Given the description of an element on the screen output the (x, y) to click on. 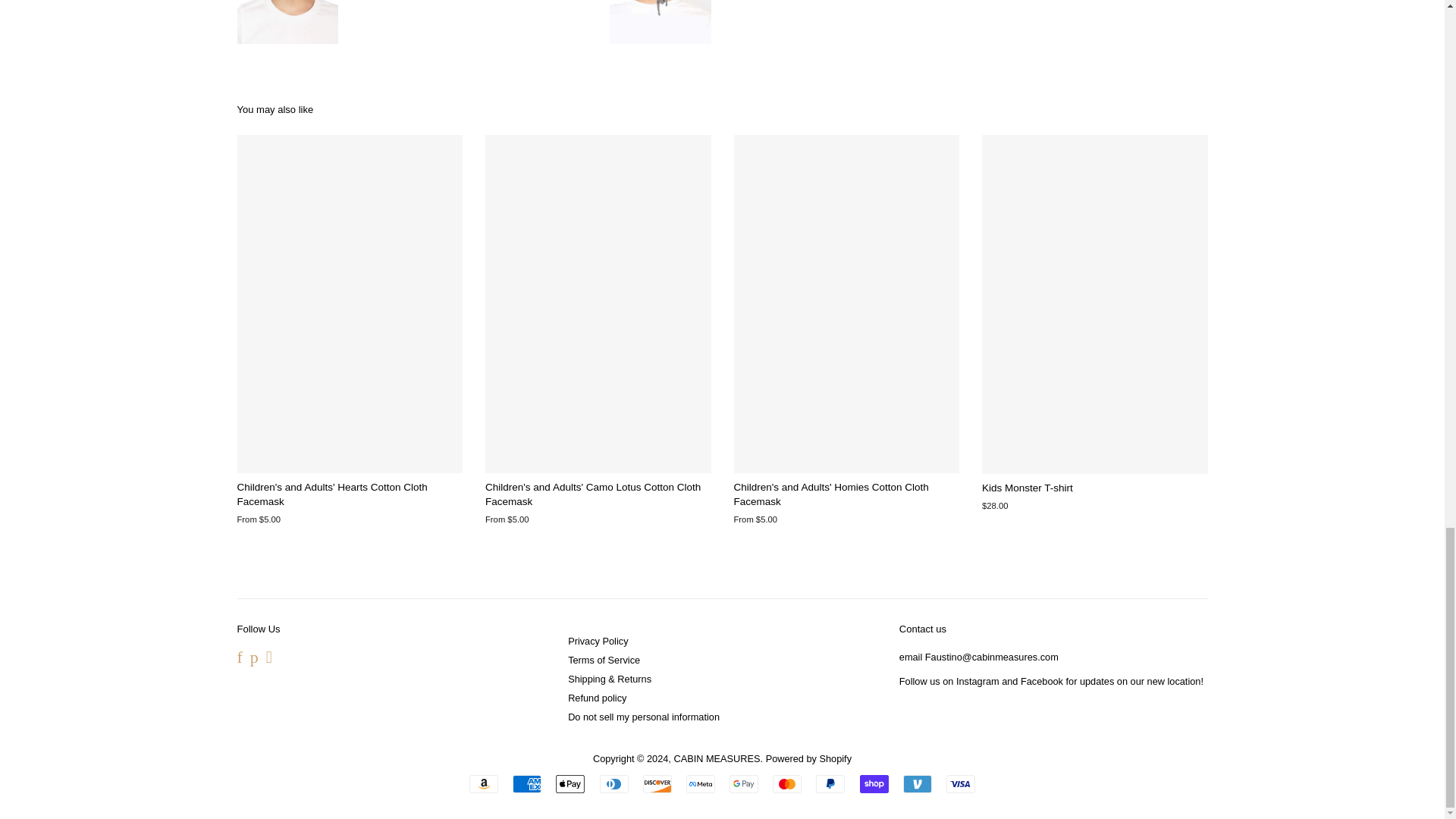
Discover (657, 783)
Visa (960, 783)
Google Pay (743, 783)
Meta Pay (699, 783)
Apple Pay (570, 783)
Amazon (482, 783)
American Express (526, 783)
Shop Pay (874, 783)
PayPal (829, 783)
Diners Club (613, 783)
